Given the description of an element on the screen output the (x, y) to click on. 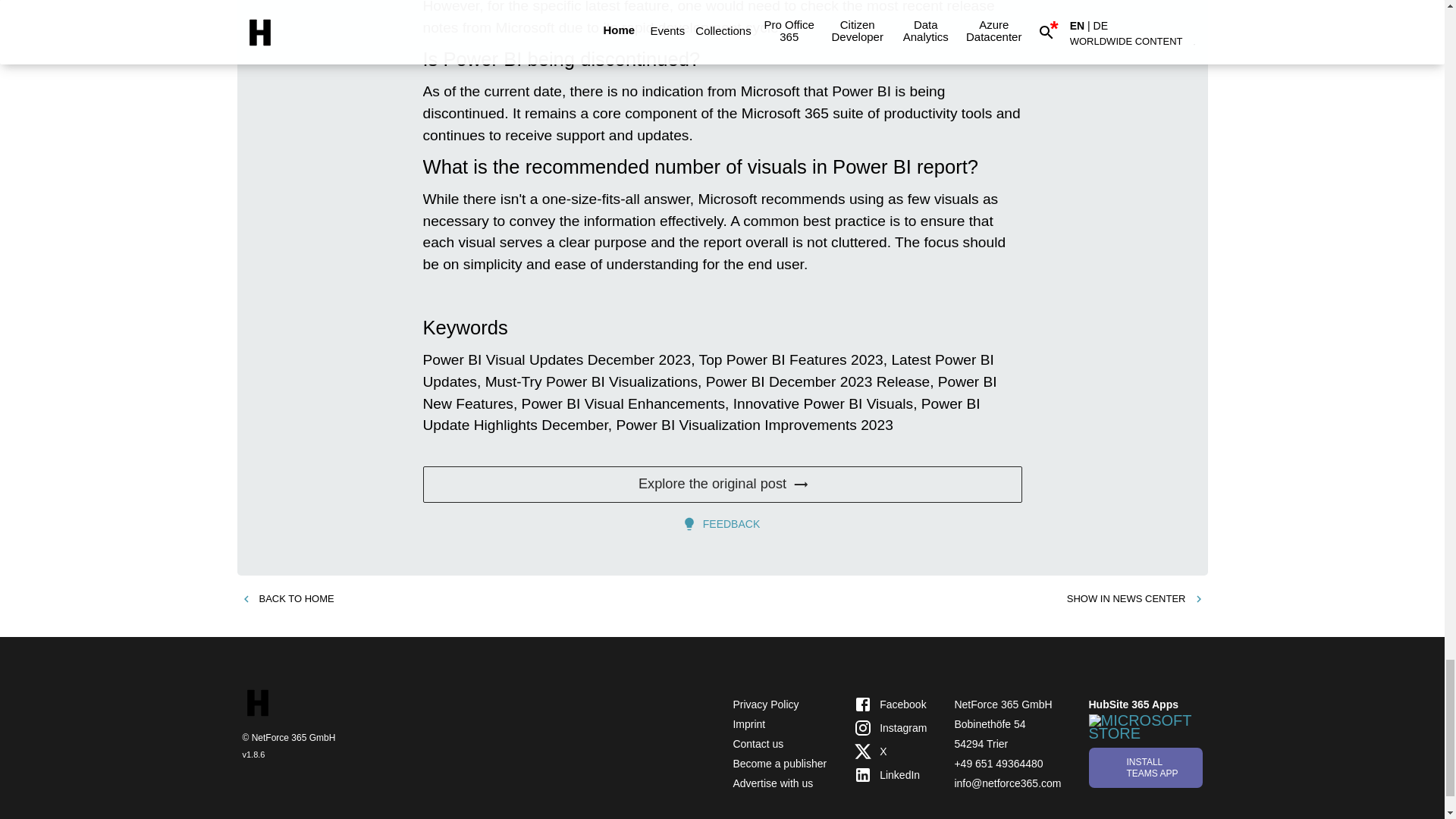
Facebook (889, 704)
SHOW IN NEWS CENTER (1135, 599)
Instagram (889, 727)
Privacy Policy (764, 704)
BACK TO HOME (286, 599)
Install app (1145, 767)
Advertise with us (772, 783)
X (889, 751)
LinkedIn (889, 774)
FEEDBACK (721, 524)
Explore the original post (722, 484)
Imprint (748, 724)
NetForce 365 GmbH (1002, 704)
Contact us (757, 743)
Become a publisher (779, 763)
